Given the description of an element on the screen output the (x, y) to click on. 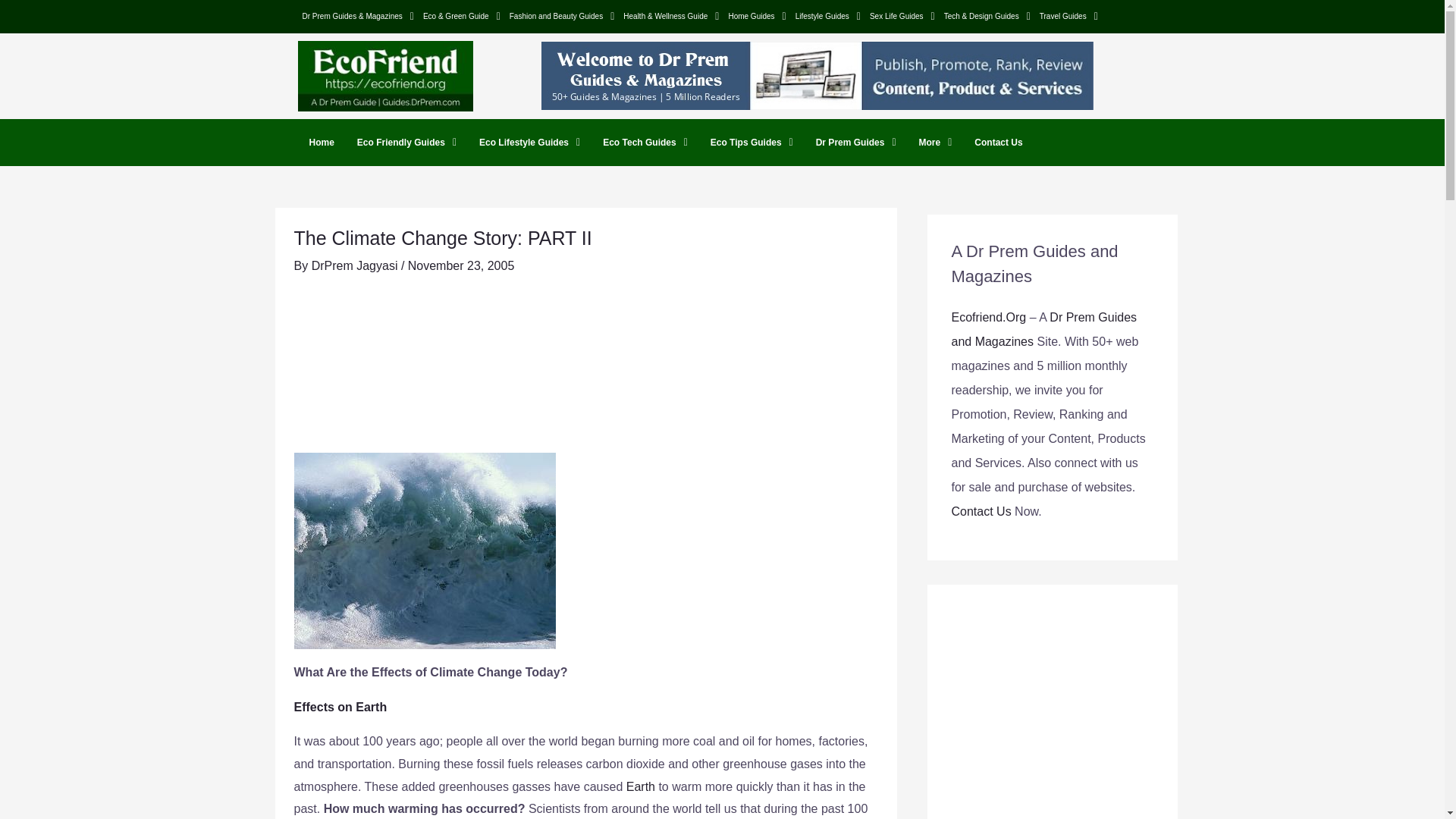
rising sea (425, 550)
Fashion and Beauty Guides (562, 16)
Home Guides (756, 16)
Lifestyle Guides (827, 16)
View all posts by DrPrem Jagyasi (356, 265)
